Given the description of an element on the screen output the (x, y) to click on. 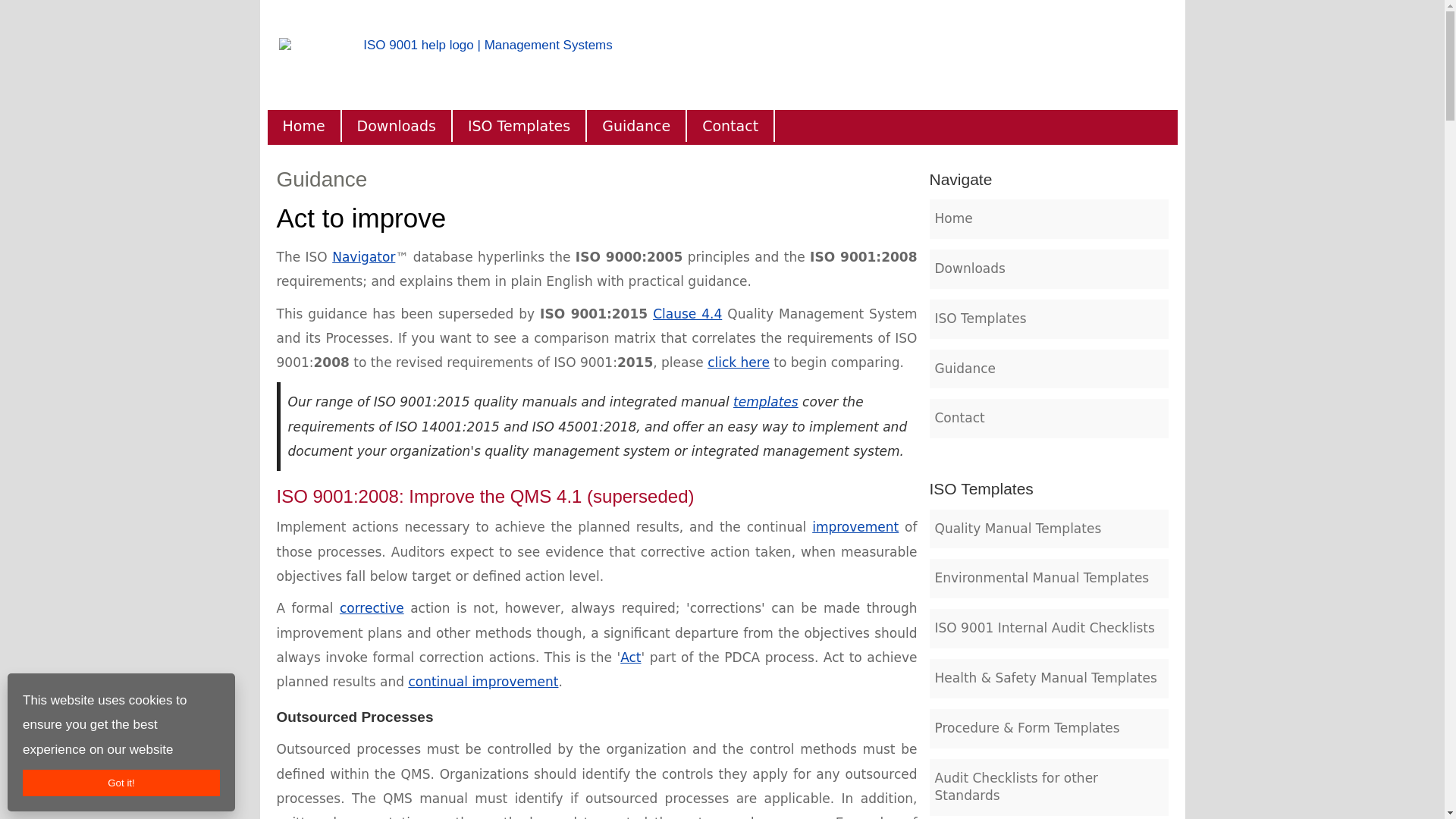
click here (738, 362)
Contact (730, 125)
Guidance (636, 125)
ISO Templates (519, 125)
Act (630, 657)
Home (303, 125)
improvement (855, 526)
corrective (371, 607)
Navigator (362, 256)
continual improvement (482, 681)
